Given the description of an element on the screen output the (x, y) to click on. 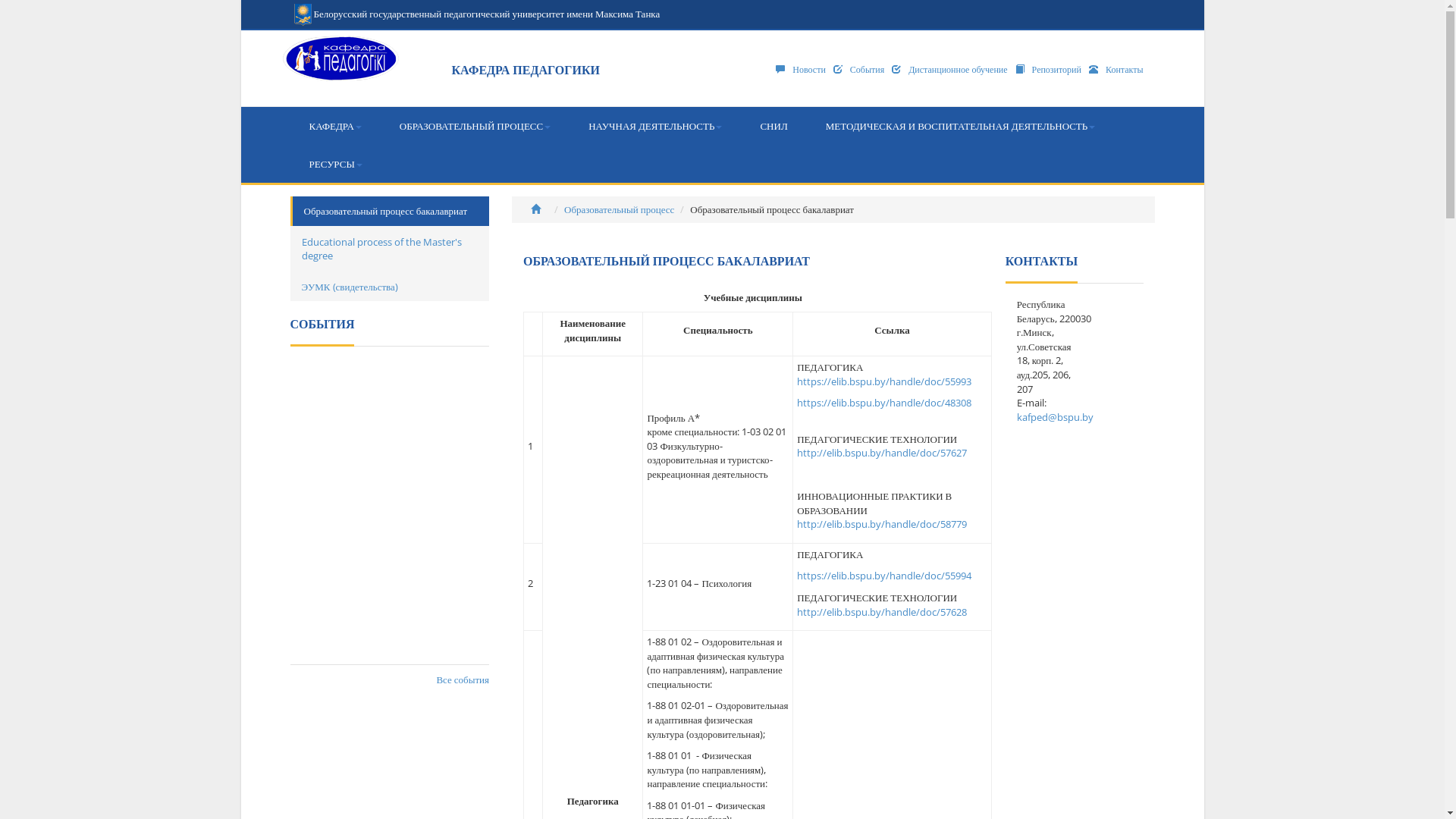
http://elib.bspu.by/handle/doc/57627 Element type: text (881, 452)
Educational process of the Master's degree Element type: text (389, 248)
https://elib.bspu.by/handle/doc/48308 Element type: text (884, 402)
https://elib.bspu.by/handle/doc/55994 Element type: text (884, 575)
kafped@bspu.by Element type: text (1054, 416)
http://elib.bspu.by/handle/doc/58779 Element type: text (881, 523)
https://elib.bspu.by/handle/doc/55993 Element type: text (884, 381)
http://elib.bspu.by/handle/doc/57628 Element type: text (881, 611)
